Given the description of an element on the screen output the (x, y) to click on. 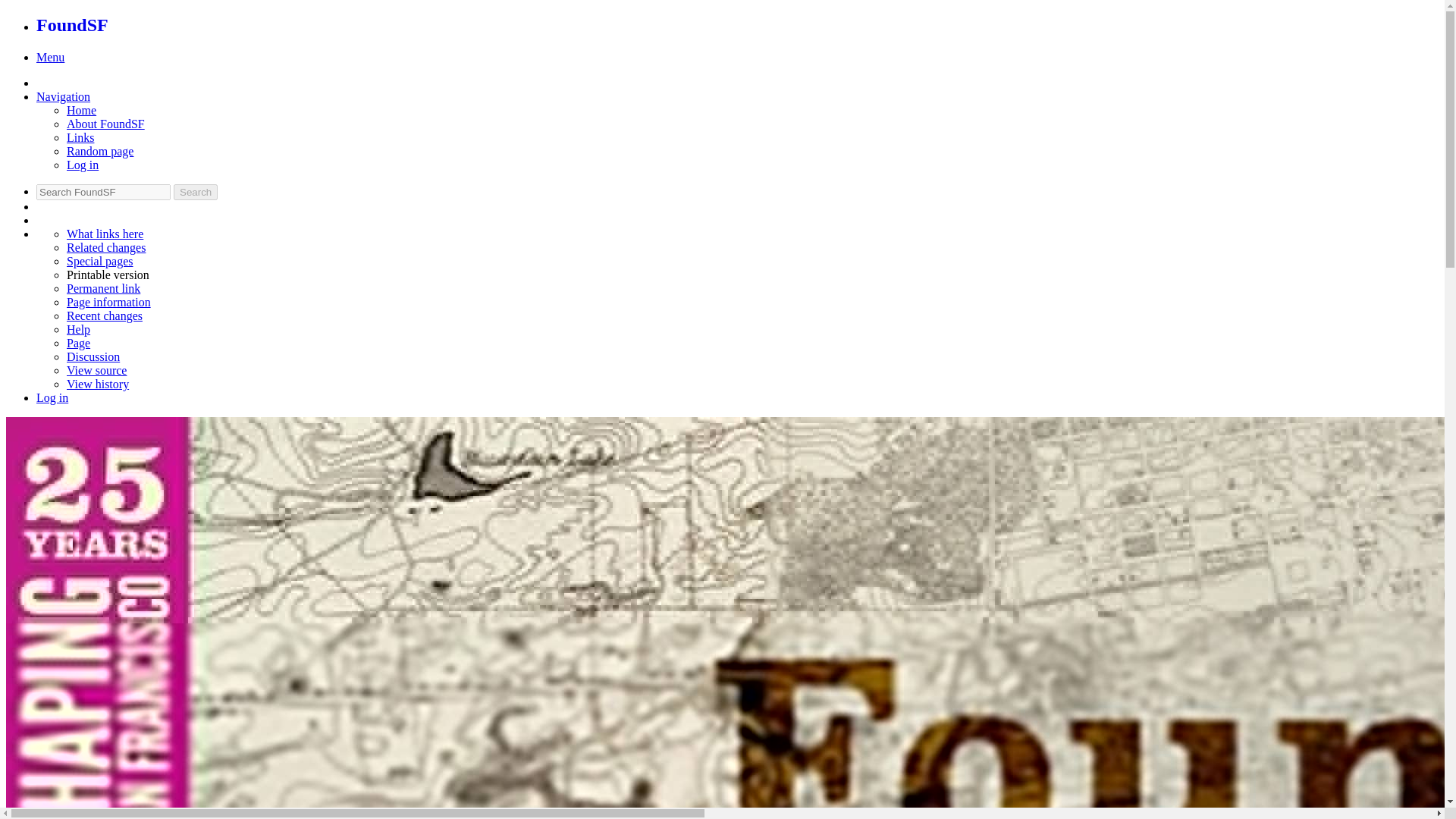
What links here (104, 233)
View history (97, 383)
About FoundSF (105, 123)
Recent changes (104, 315)
Search (194, 191)
FoundSF (71, 25)
More information about this page (108, 301)
Related changes (105, 246)
Log in (52, 397)
Menu (50, 56)
Special pages (99, 260)
Permanent link to this revision of this page (102, 287)
Log in (82, 164)
Printable version (107, 274)
Random page (99, 151)
